Given the description of an element on the screen output the (x, y) to click on. 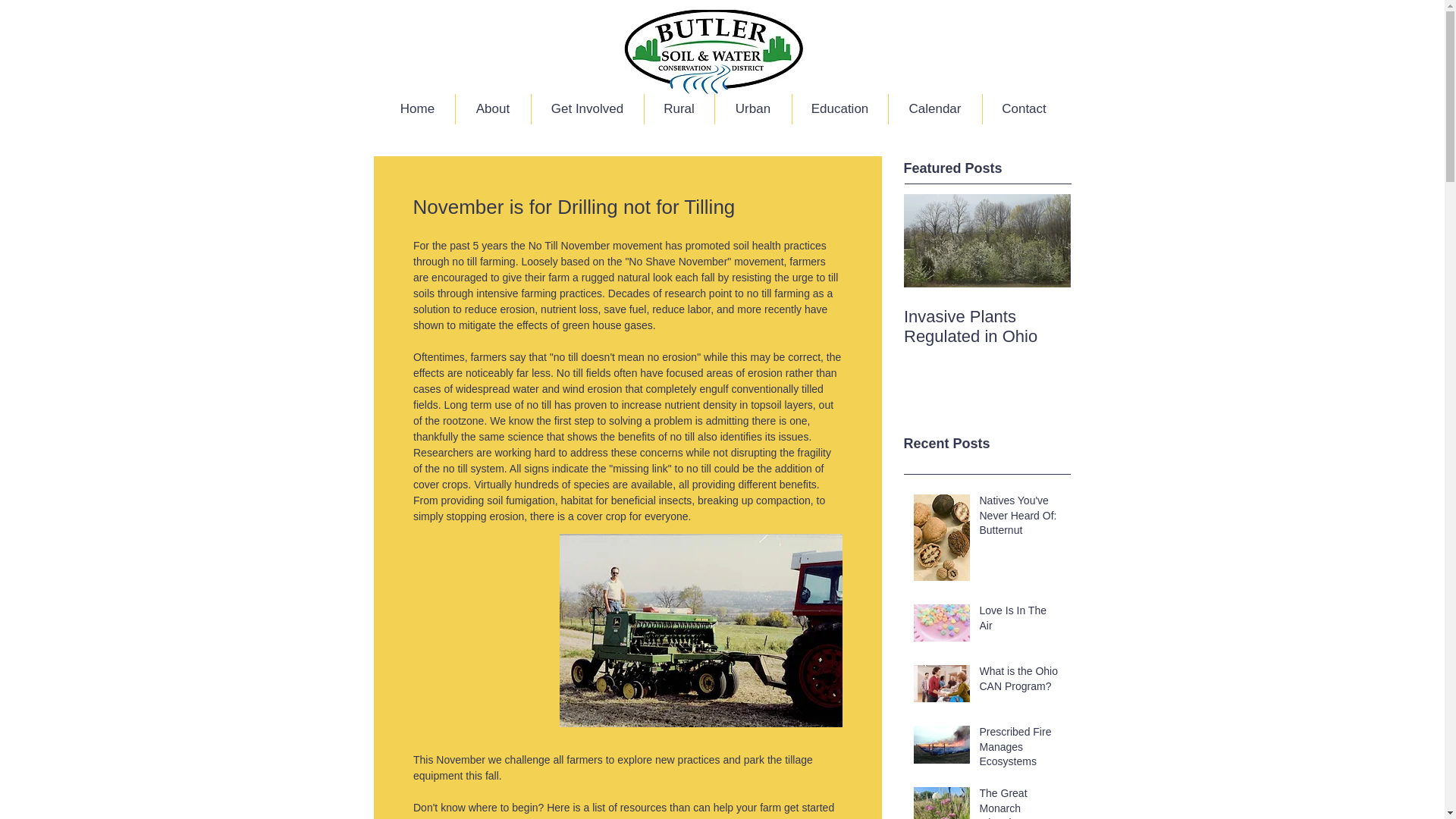
About (491, 109)
Rural (679, 109)
ButlerSWCDNewLogo.jpg (713, 51)
Get Involved (587, 109)
Home (417, 109)
Urban (752, 109)
